Given the description of an element on the screen output the (x, y) to click on. 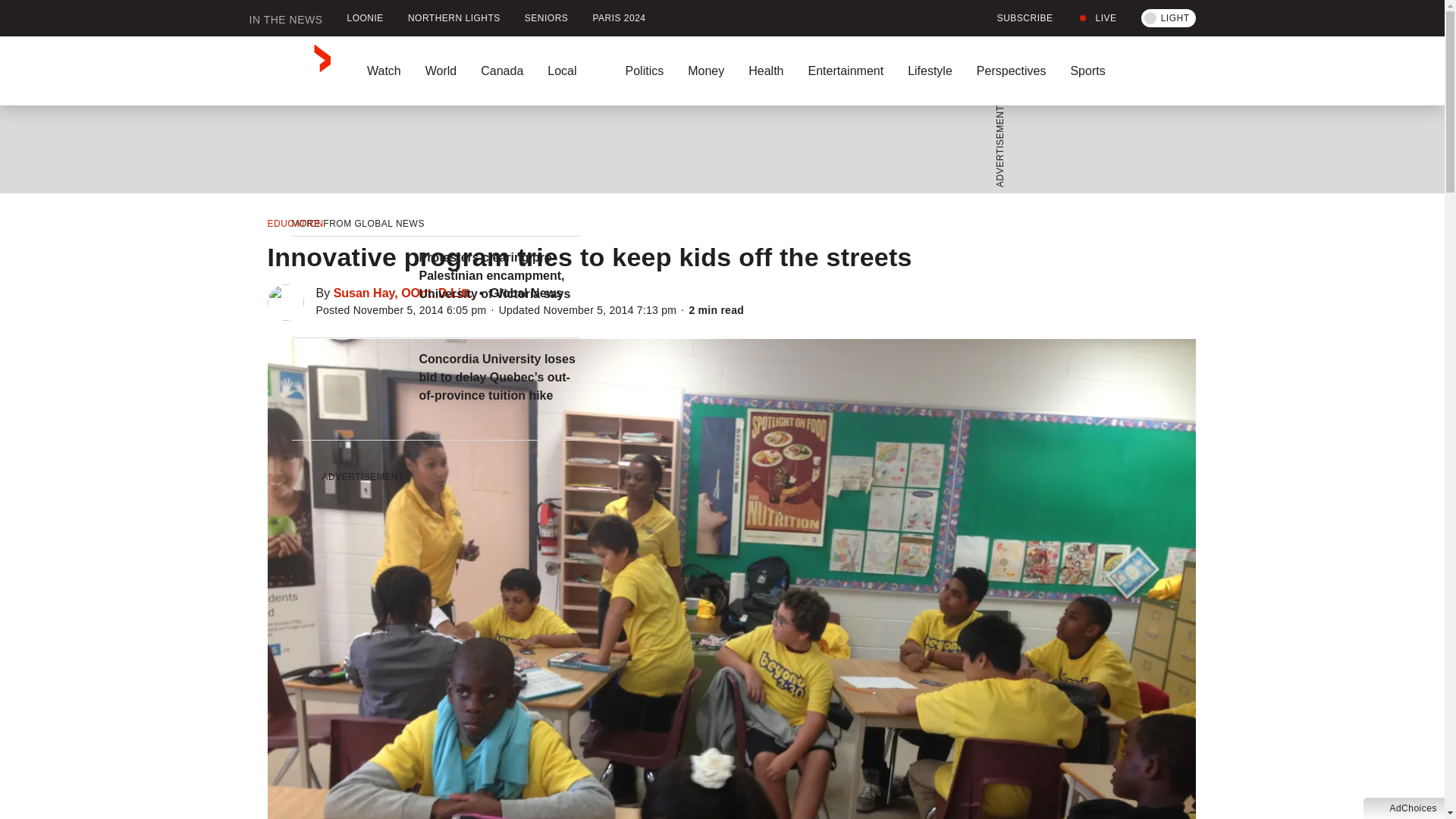
Posts by Susan Hay, OOnt. D.Litt. (403, 293)
GlobalNews home (289, 70)
SUBSCRIBE (1015, 18)
Canada (501, 70)
NORTHERN LIGHTS (454, 18)
LIVE (1096, 18)
LOONIE (365, 18)
Perspectives (1010, 70)
